Given the description of an element on the screen output the (x, y) to click on. 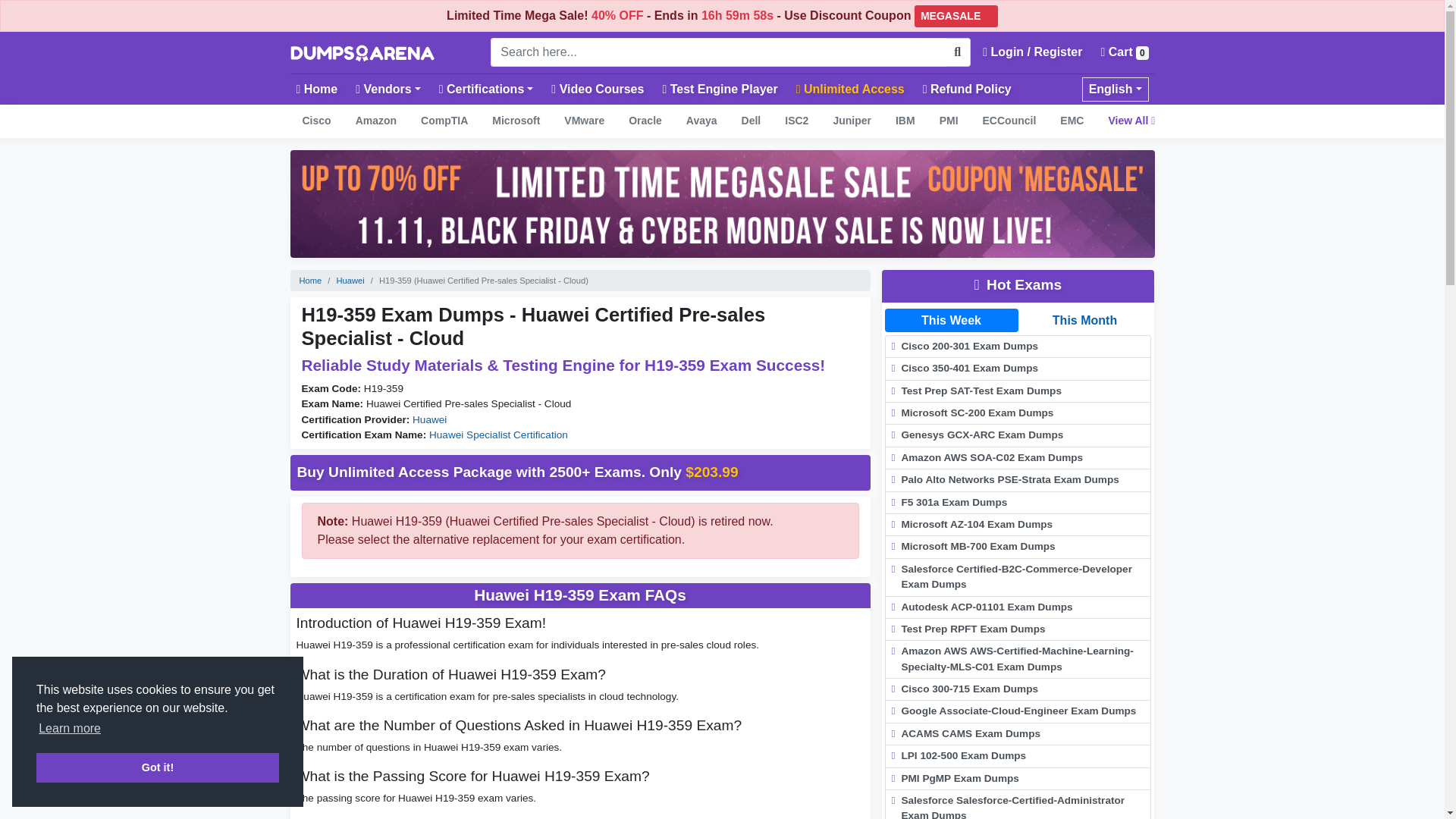
MEGASALE (955, 15)
Learn more (69, 728)
Got it! (157, 767)
Vendors (387, 88)
Cart 0 (1124, 51)
Home (316, 88)
